Given the description of an element on the screen output the (x, y) to click on. 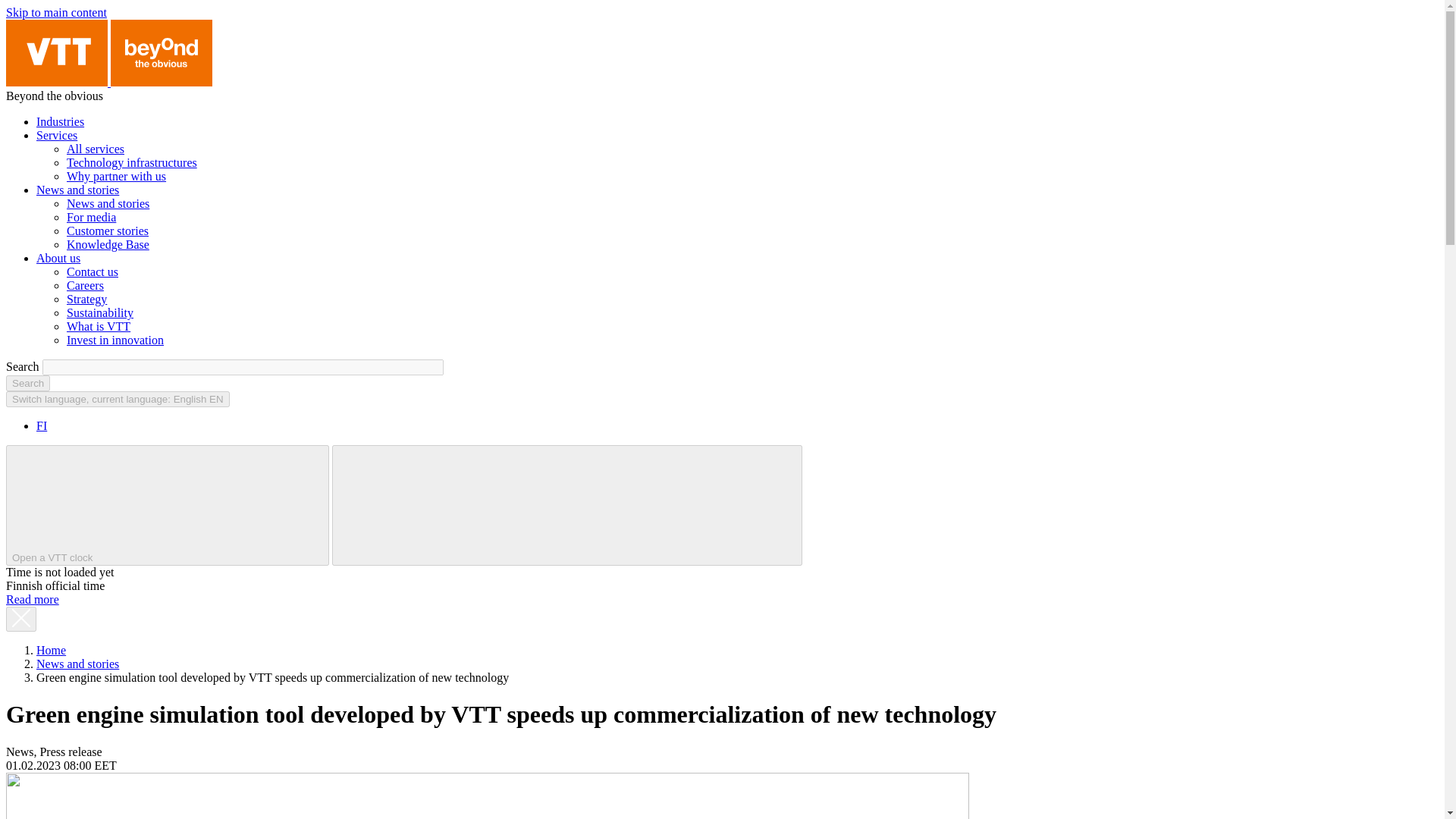
News and stories (77, 189)
Wednesday, February 1, 2023 - 08:00 (60, 765)
Contact us (91, 271)
About us (58, 257)
News and stories (107, 203)
Industries (60, 121)
Customer stories (107, 230)
Knowledge Base (107, 244)
Skip to main content (55, 11)
Open a VTT clock Finnish official time (167, 505)
